Given the description of an element on the screen output the (x, y) to click on. 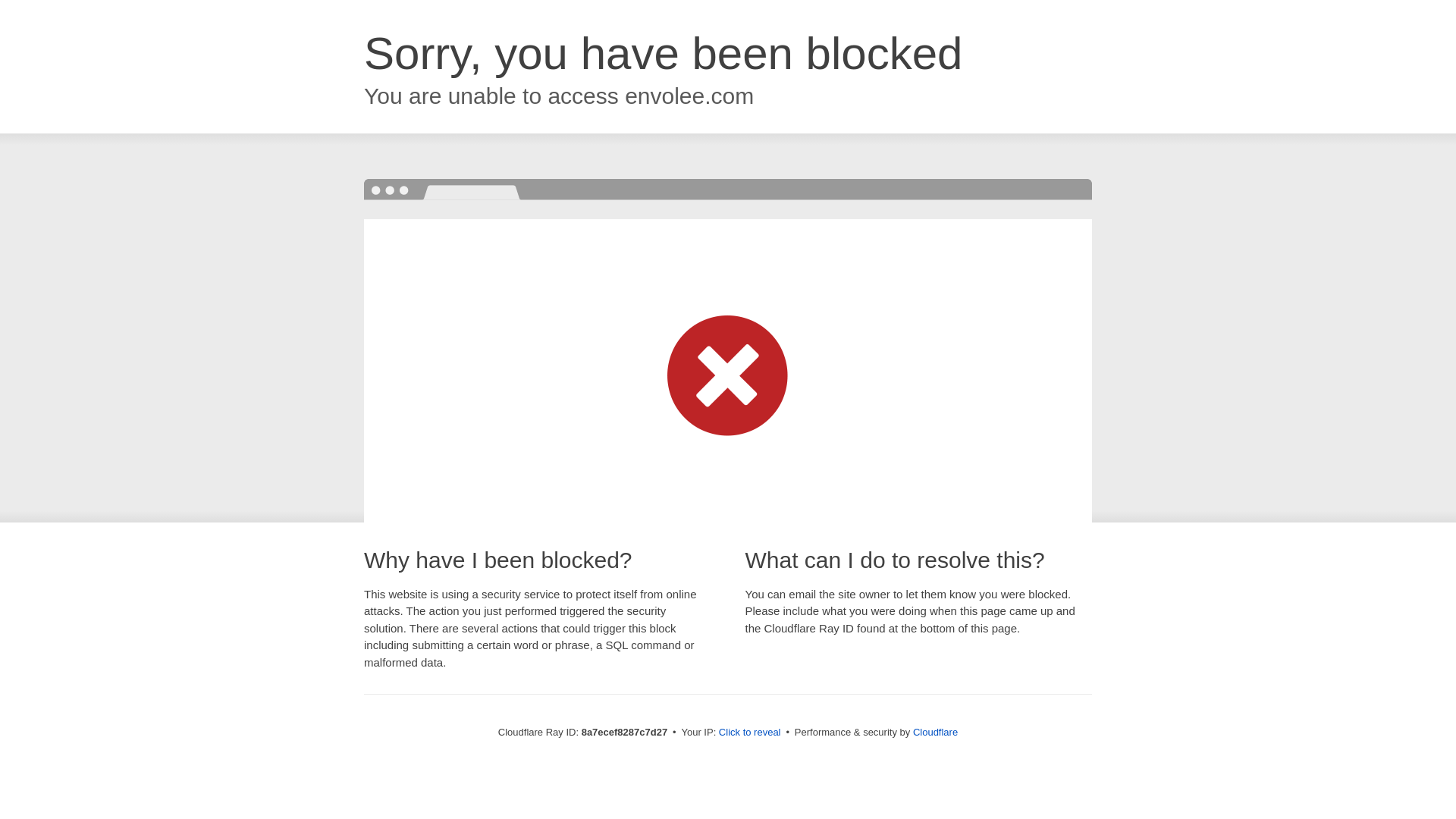
Click to reveal (749, 732)
Cloudflare (935, 731)
